Given the description of an element on the screen output the (x, y) to click on. 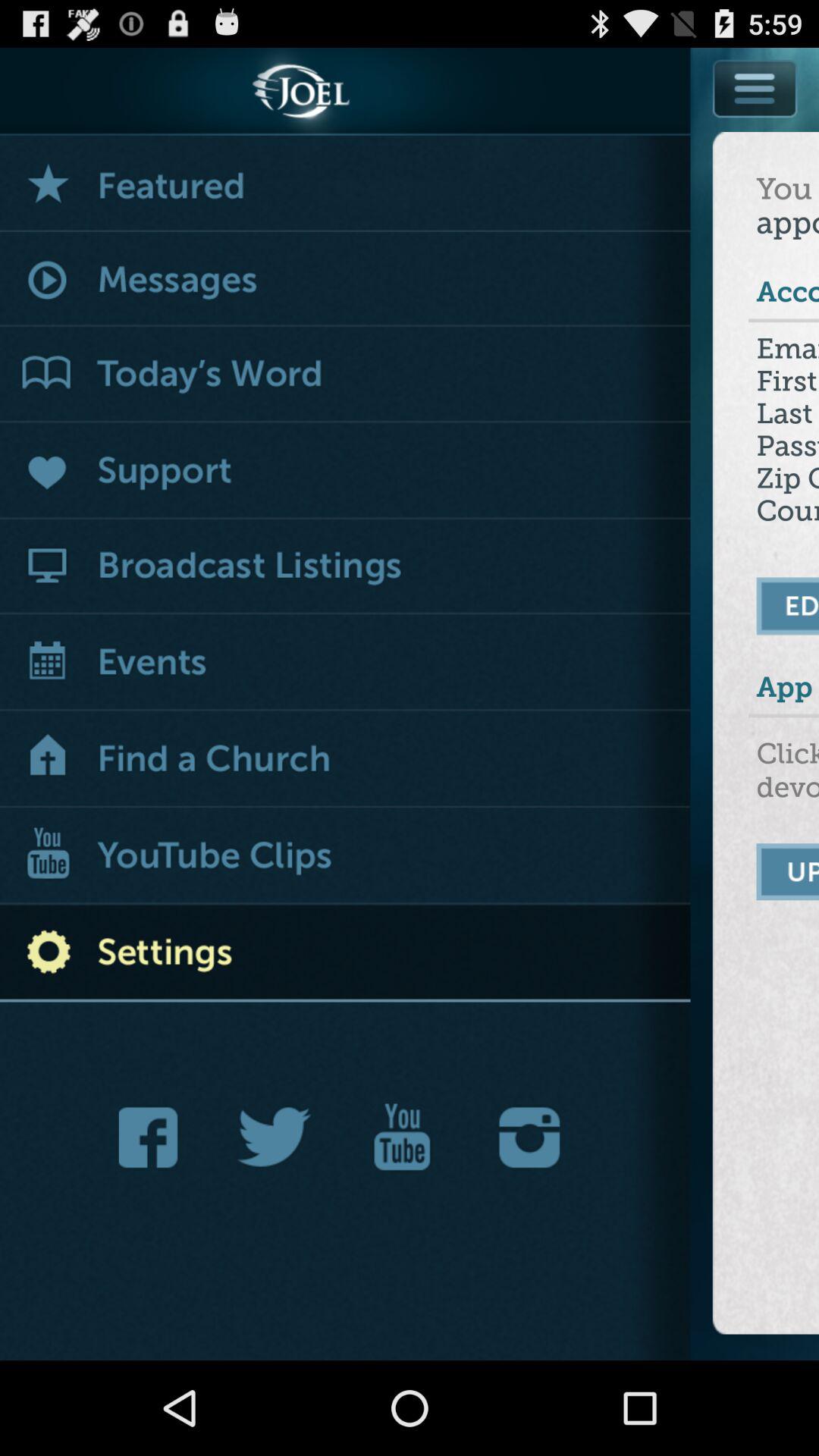
broadcast listings (345, 566)
